Given the description of an element on the screen output the (x, y) to click on. 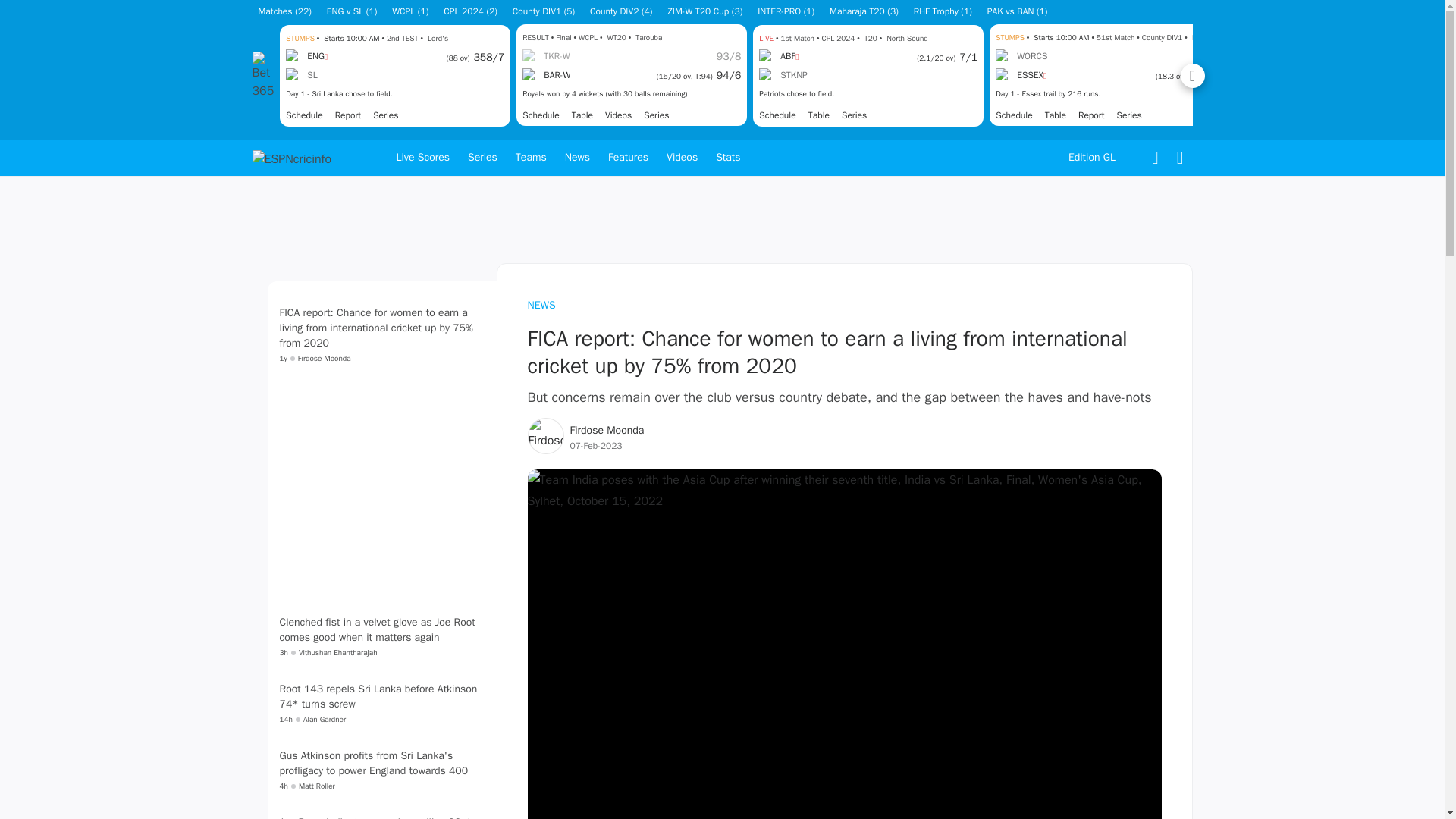
Schedule (540, 115)
Report (1091, 115)
TKR-W (545, 55)
ABF (777, 56)
Table (582, 115)
Schedule (303, 114)
Videos (618, 115)
WORCS (1020, 55)
Sri Lanka tour of England (384, 114)
ENG (306, 56)
